Given the description of an element on the screen output the (x, y) to click on. 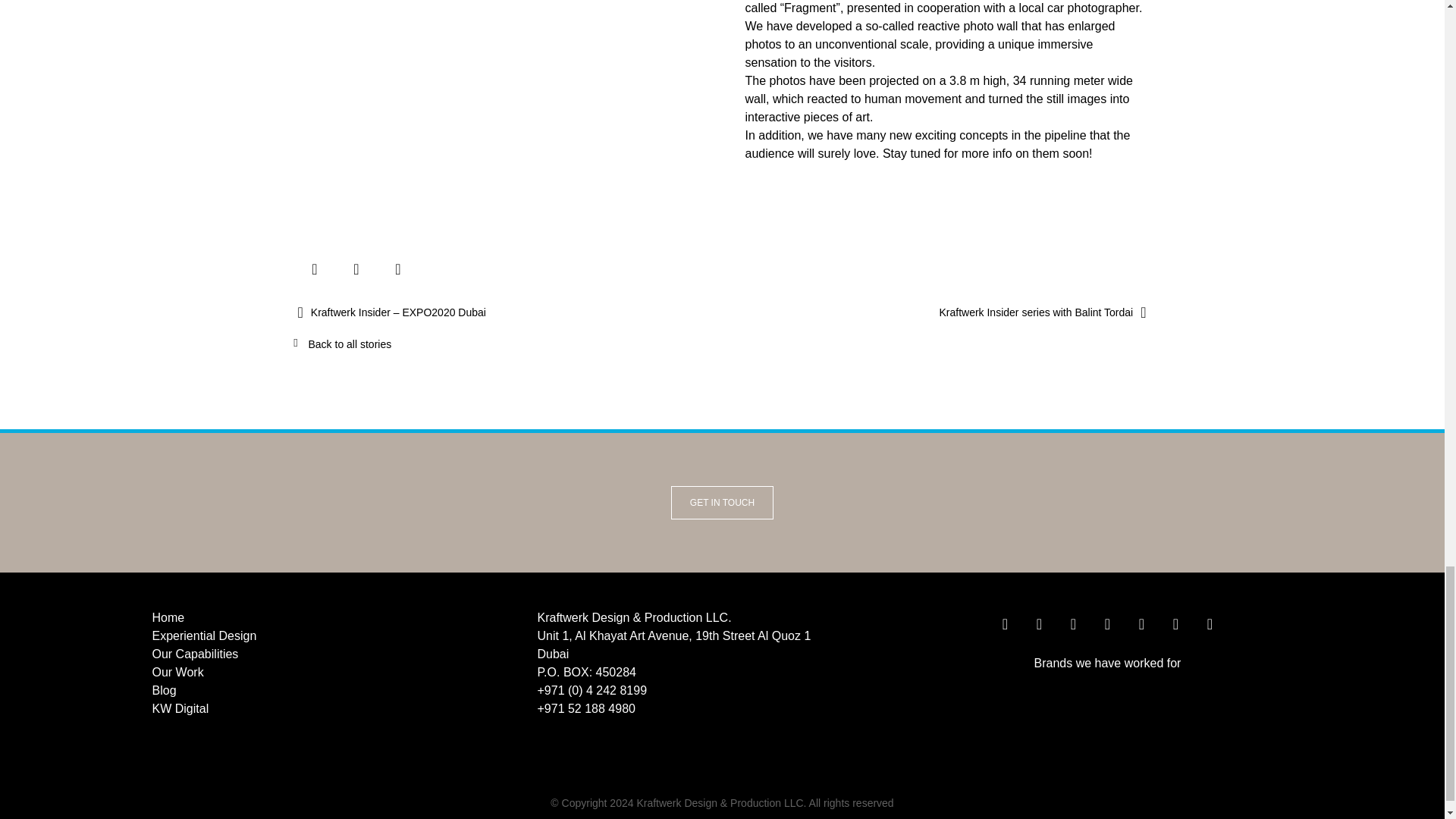
GET IN TOUCH (722, 502)
Kraftwerk Insider series with Balint Tordai (934, 313)
Our Work (336, 672)
Experiential Design (336, 636)
KW Digital (336, 709)
Blog (336, 690)
Home (336, 618)
Our Capabilities (336, 654)
Back to all stories (349, 344)
